Given the description of an element on the screen output the (x, y) to click on. 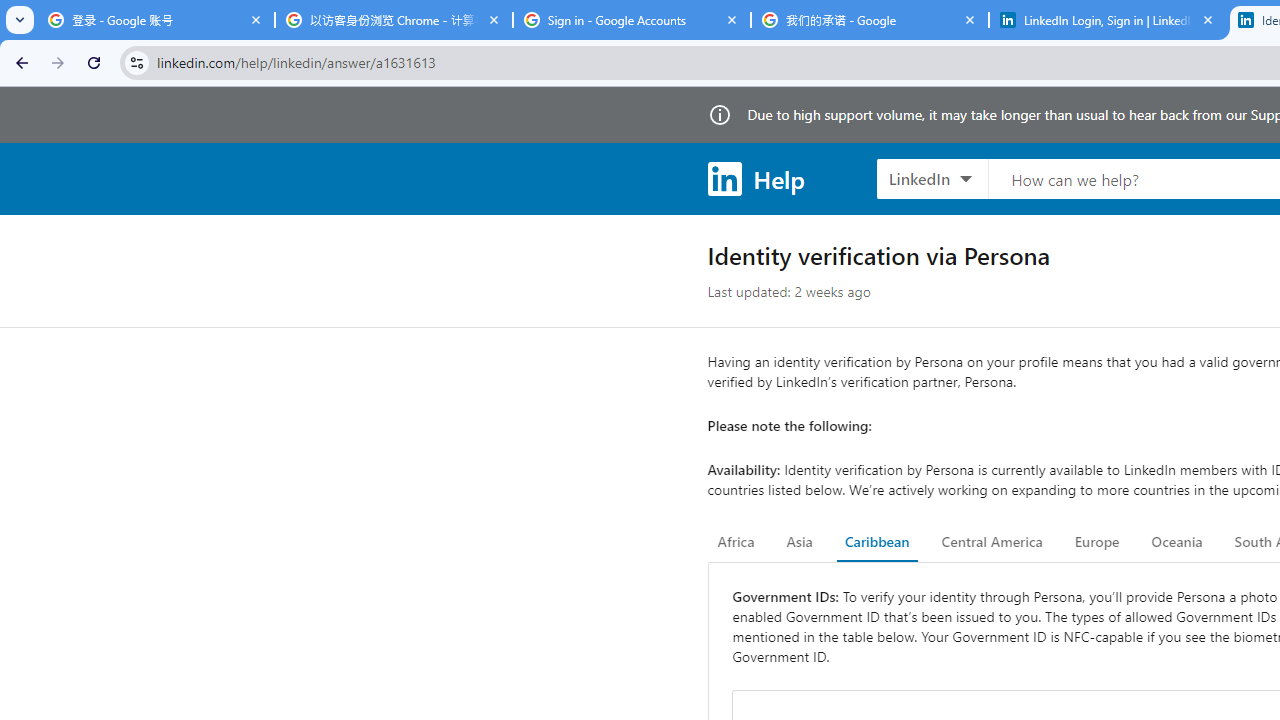
Europe (1096, 542)
Central America (991, 542)
Oceania (1176, 542)
LinkedIn Login, Sign in | LinkedIn (1108, 20)
Caribbean (876, 542)
Sign in - Google Accounts (632, 20)
LinkedIn products to search, LinkedIn selected (932, 178)
Africa (735, 542)
Help (755, 178)
